Given the description of an element on the screen output the (x, y) to click on. 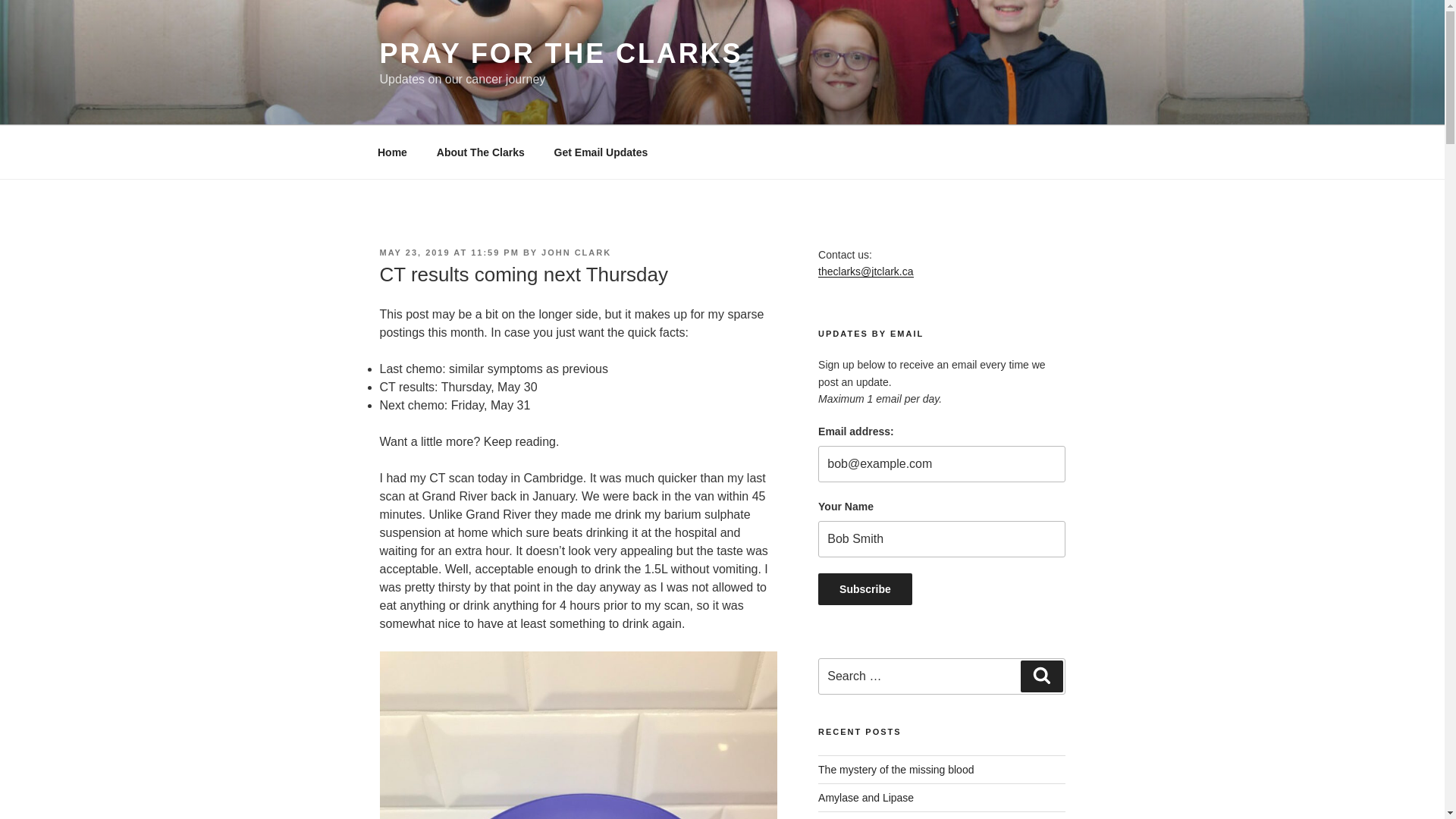
Amylase and Lipase (866, 797)
The mystery of the missing blood (896, 769)
JOHN CLARK (576, 252)
Subscribe (865, 589)
About The Clarks (480, 151)
Home (392, 151)
Get Email Updates (600, 151)
Subscribe (865, 589)
Search (1041, 676)
PRAY FOR THE CLARKS (560, 52)
MAY 23, 2019 AT 11:59 PM (448, 252)
